Given the description of an element on the screen output the (x, y) to click on. 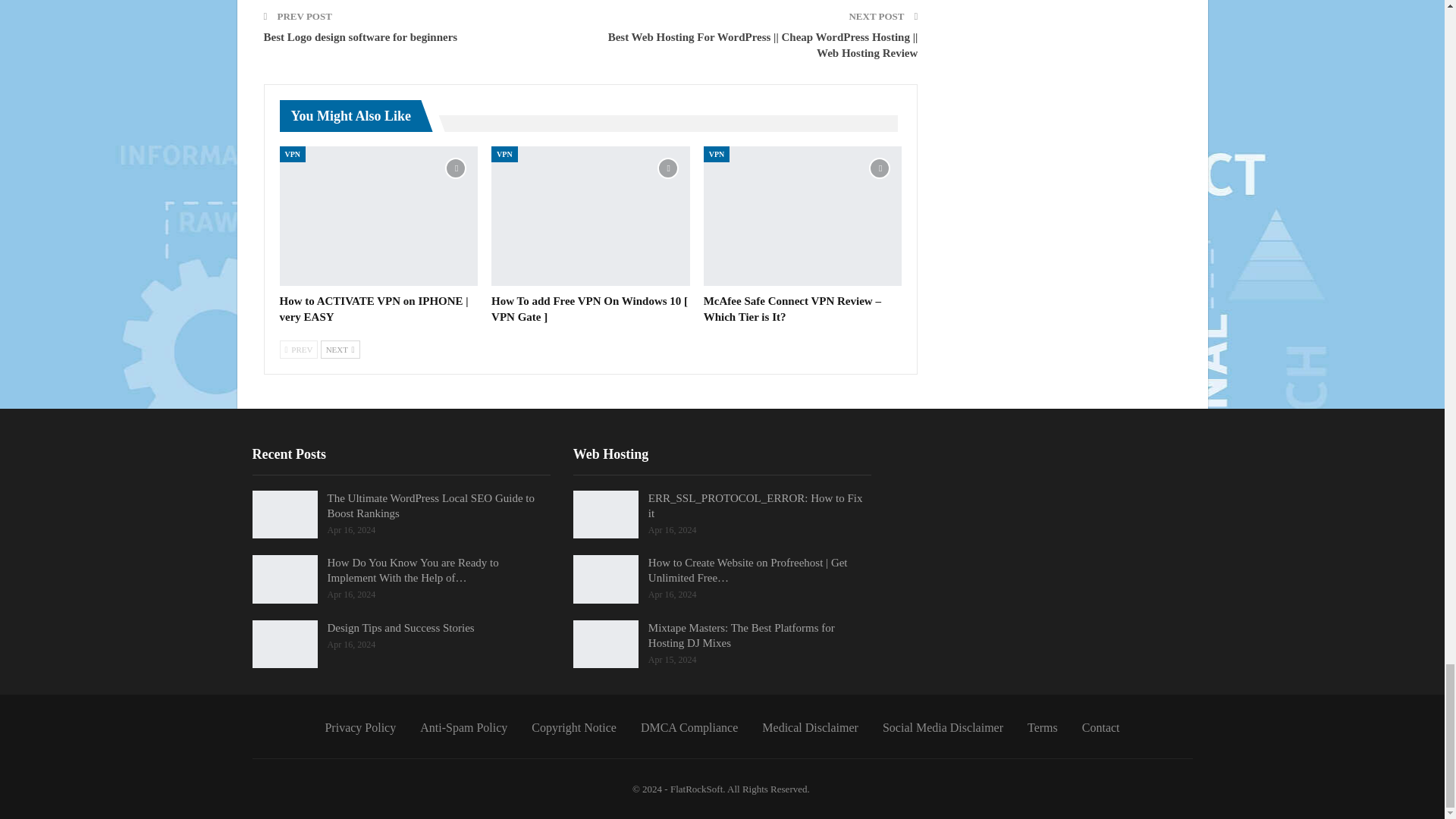
Previous (298, 349)
Best Logo design software for beginners (360, 37)
VPN (292, 154)
Next (339, 349)
